Given the description of an element on the screen output the (x, y) to click on. 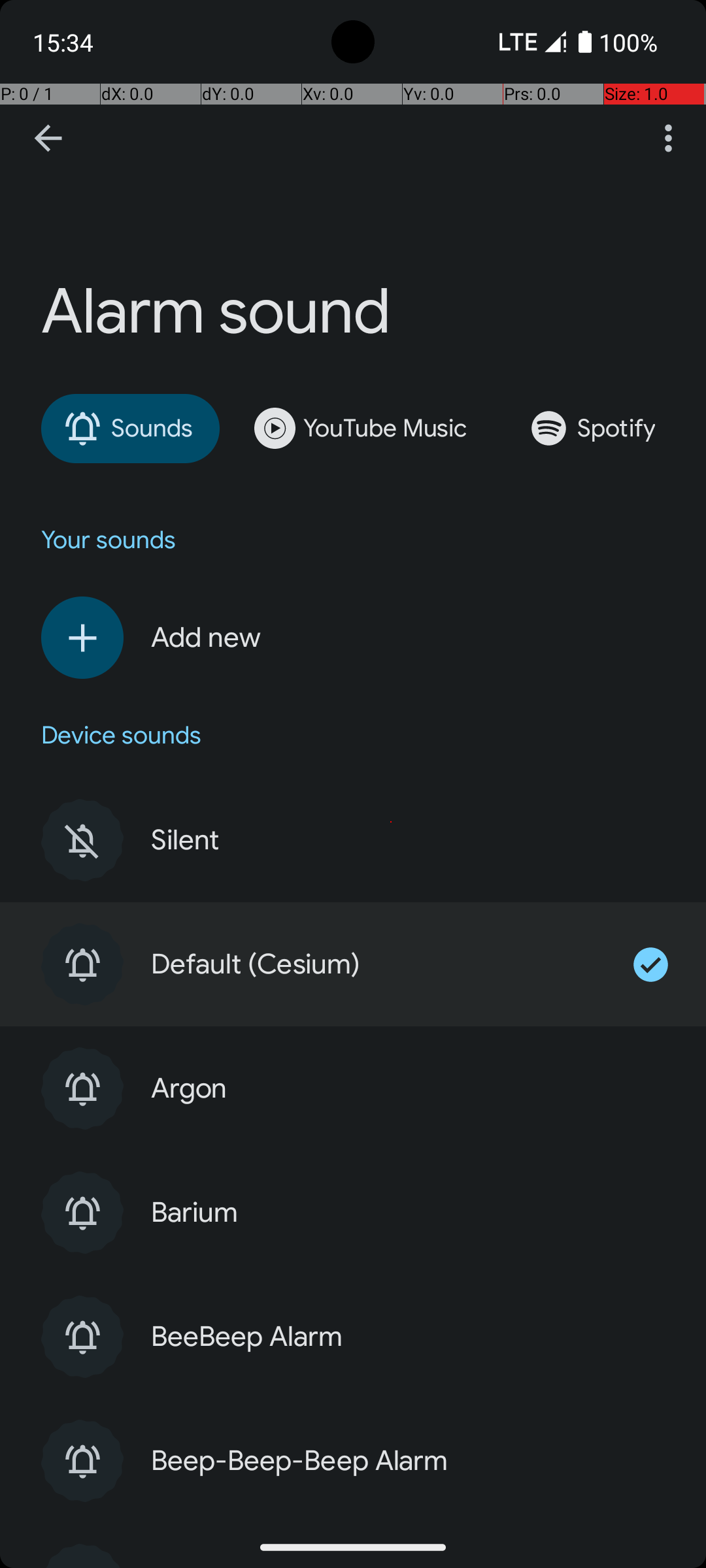
Alarm sound Element type: android.widget.FrameLayout (353, 186)
Sounds Element type: android.widget.LinearLayout (116, 428)
YouTube Music Element type: android.widget.LinearLayout (370, 428)
Spotify Element type: android.widget.LinearLayout (601, 428)
Your sounds Element type: android.widget.TextView (108, 539)
Add new Element type: android.widget.TextView (393, 637)
Device sounds Element type: android.widget.TextView (121, 734)
Silent Element type: android.widget.TextView (407, 839)
Selected Element type: android.widget.ImageView (661, 964)
Argon Element type: android.widget.TextView (407, 1088)
Barium Element type: android.widget.TextView (407, 1212)
BeeBeep Alarm Element type: android.widget.TextView (407, 1336)
Beep-Beep-Beep Alarm Element type: android.widget.TextView (407, 1460)
Buzzer Alarm Element type: android.widget.TextView (407, 1567)
